Given the description of an element on the screen output the (x, y) to click on. 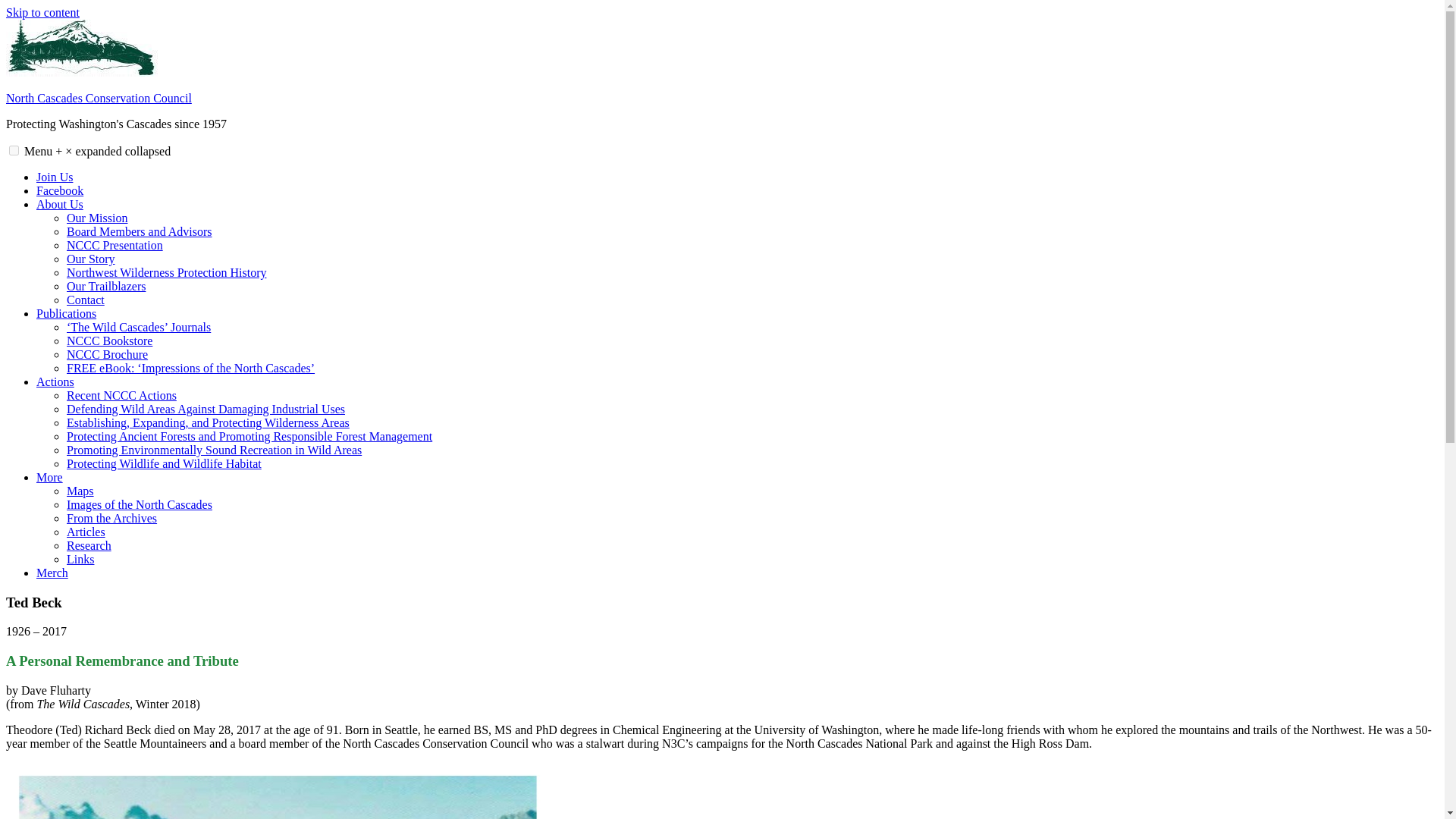
Recent NCCC Actions (121, 395)
Merch (52, 572)
Images of the North Cascades (139, 504)
North Cascades Conservation Council (98, 97)
NCCC Bookstore (109, 340)
Our Mission (97, 217)
Protecting Wildlife and Wildlife Habitat (164, 463)
Establishing, Expanding, and Protecting Wilderness Areas (207, 422)
NCCC Brochure (107, 354)
